Given the description of an element on the screen output the (x, y) to click on. 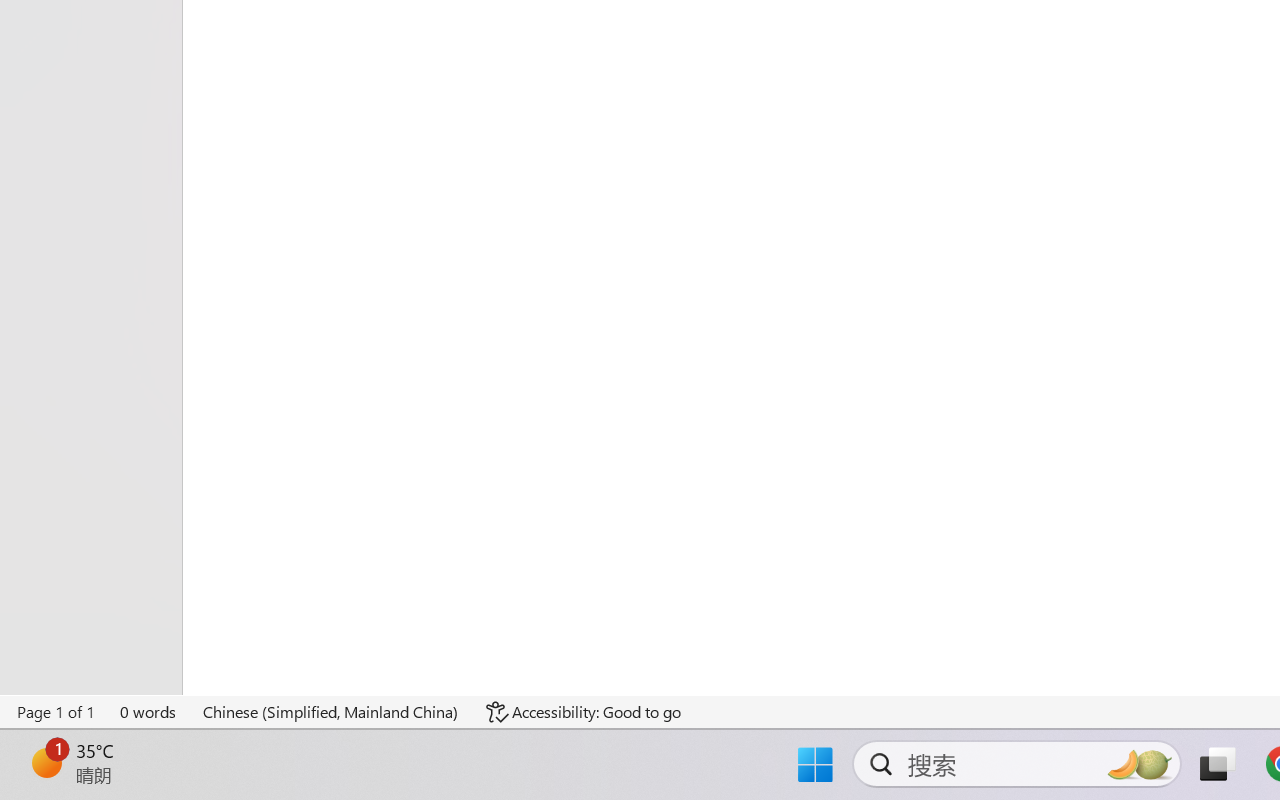
Language Chinese (Simplified, Mainland China) (331, 712)
